Given the description of an element on the screen output the (x, y) to click on. 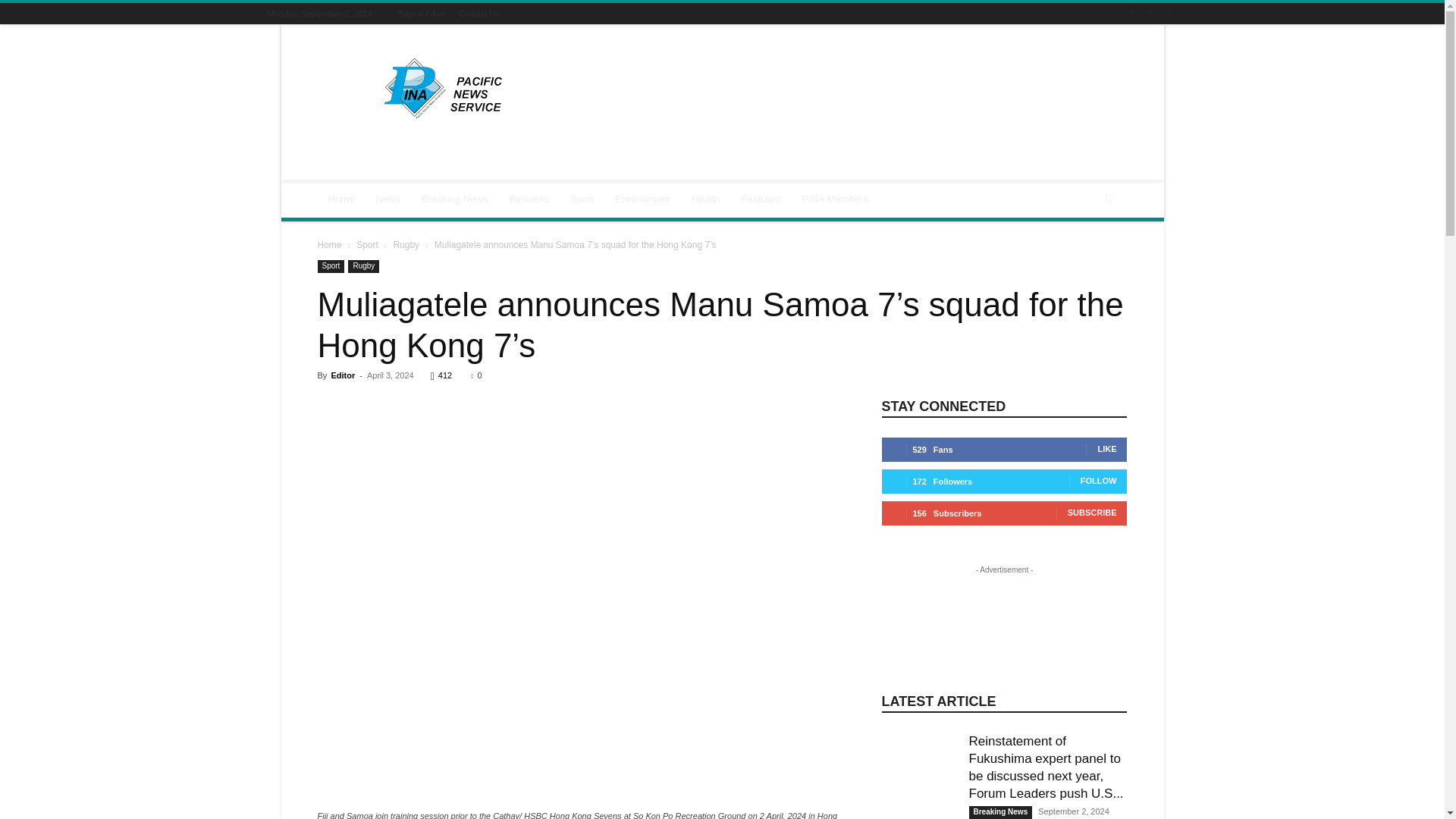
Contact Us (478, 13)
Home (341, 198)
Pacific Islands News Association (445, 88)
News (387, 198)
